Given the description of an element on the screen output the (x, y) to click on. 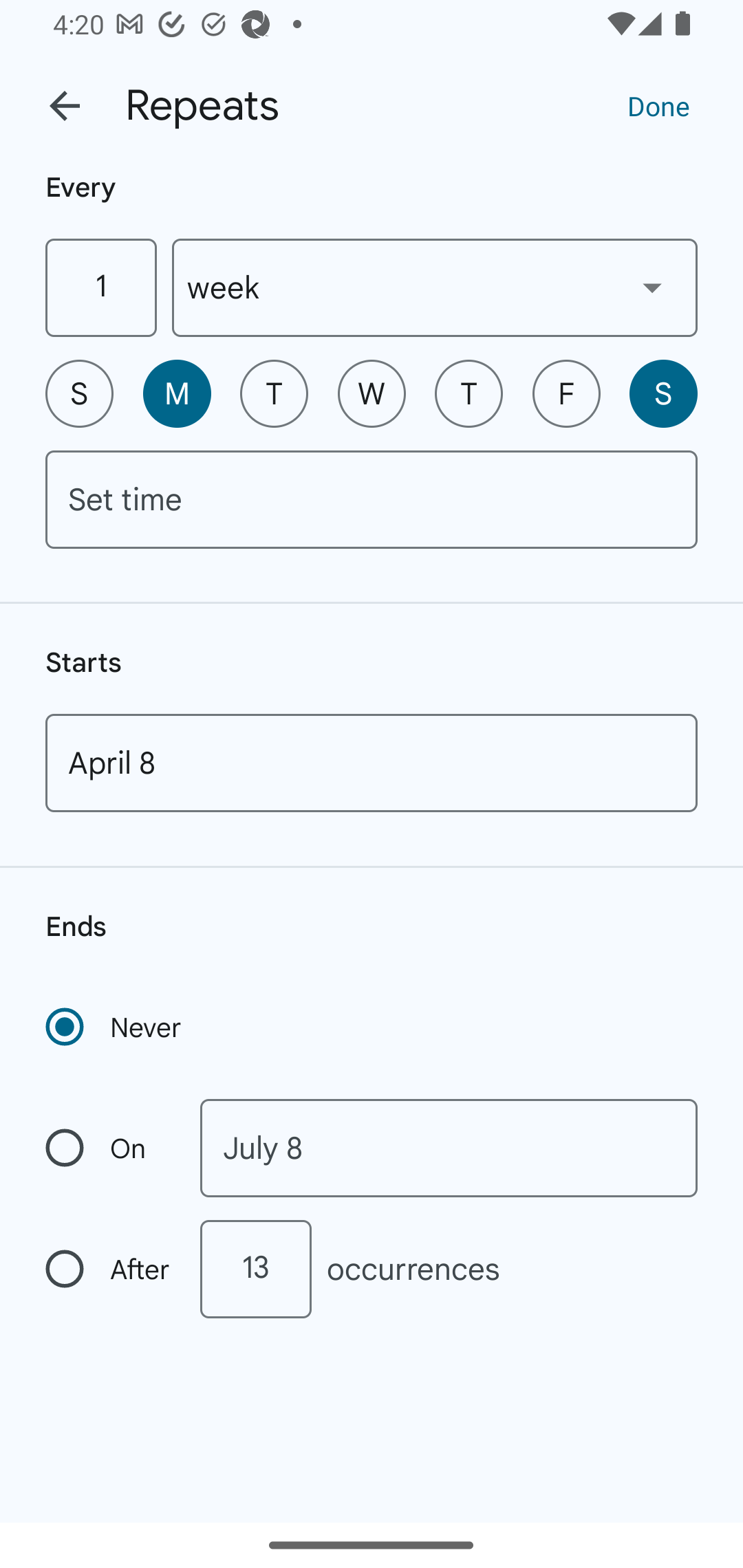
Back (64, 105)
Done (658, 105)
1 (100, 287)
week (434, 287)
Show dropdown menu (652, 286)
S Sunday (79, 393)
M Monday, selected (177, 393)
T Tuesday (273, 393)
W Wednesday (371, 393)
T Thursday (468, 393)
F Friday (566, 393)
S Saturday, selected (663, 393)
Set time (371, 499)
April 8 (371, 762)
Never Recurrence never ends (115, 1026)
July 8 (448, 1148)
On Recurrence ends on a specific date (109, 1148)
13 (255, 1268)
